Given the description of an element on the screen output the (x, y) to click on. 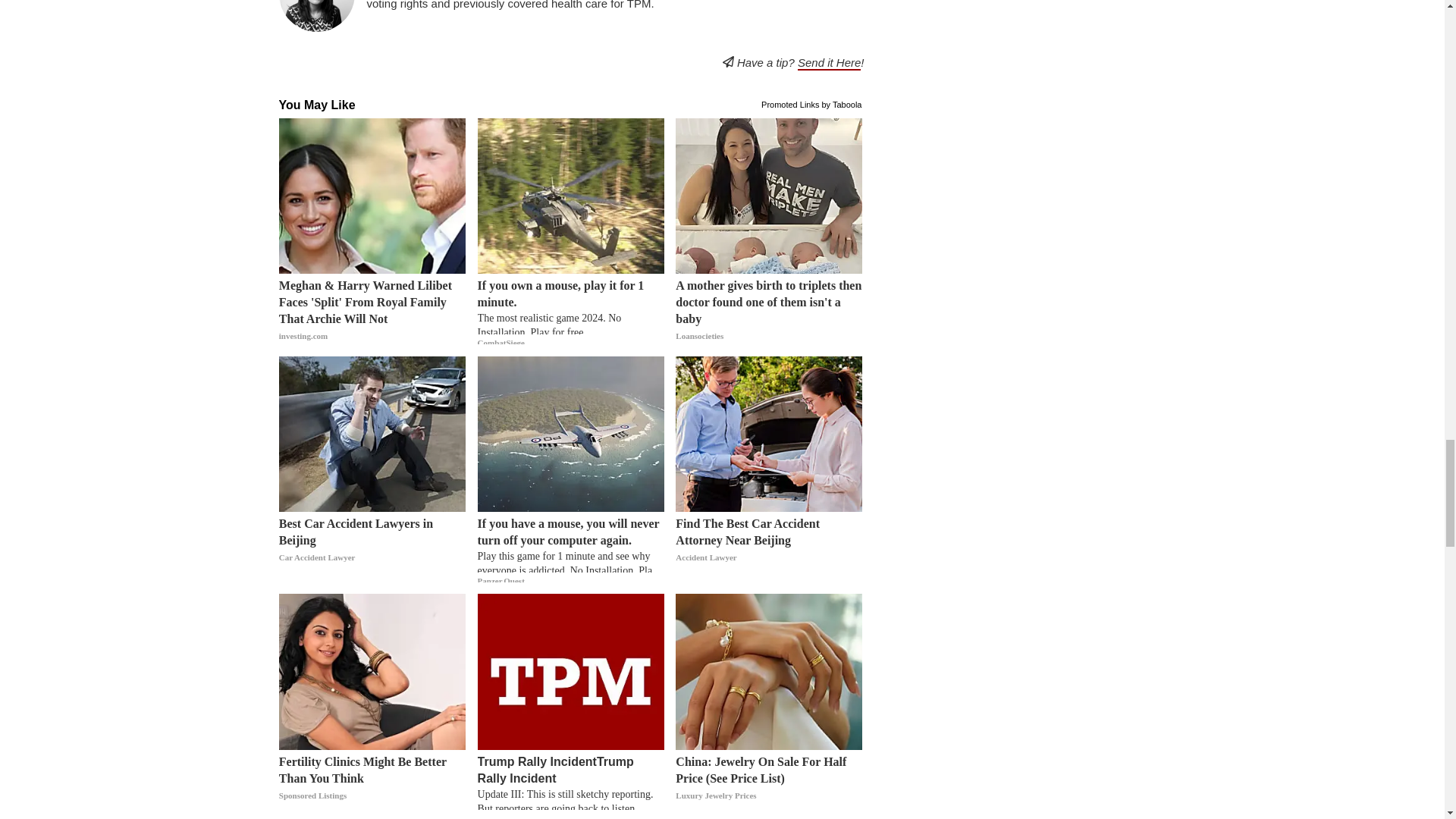
If you own a mouse, play it for 1 minute. (570, 310)
Best Car Accident Lawyers in Beijing (372, 548)
Find The Best Car Accident Attorney Near Beijing (768, 548)
